Given the description of an element on the screen output the (x, y) to click on. 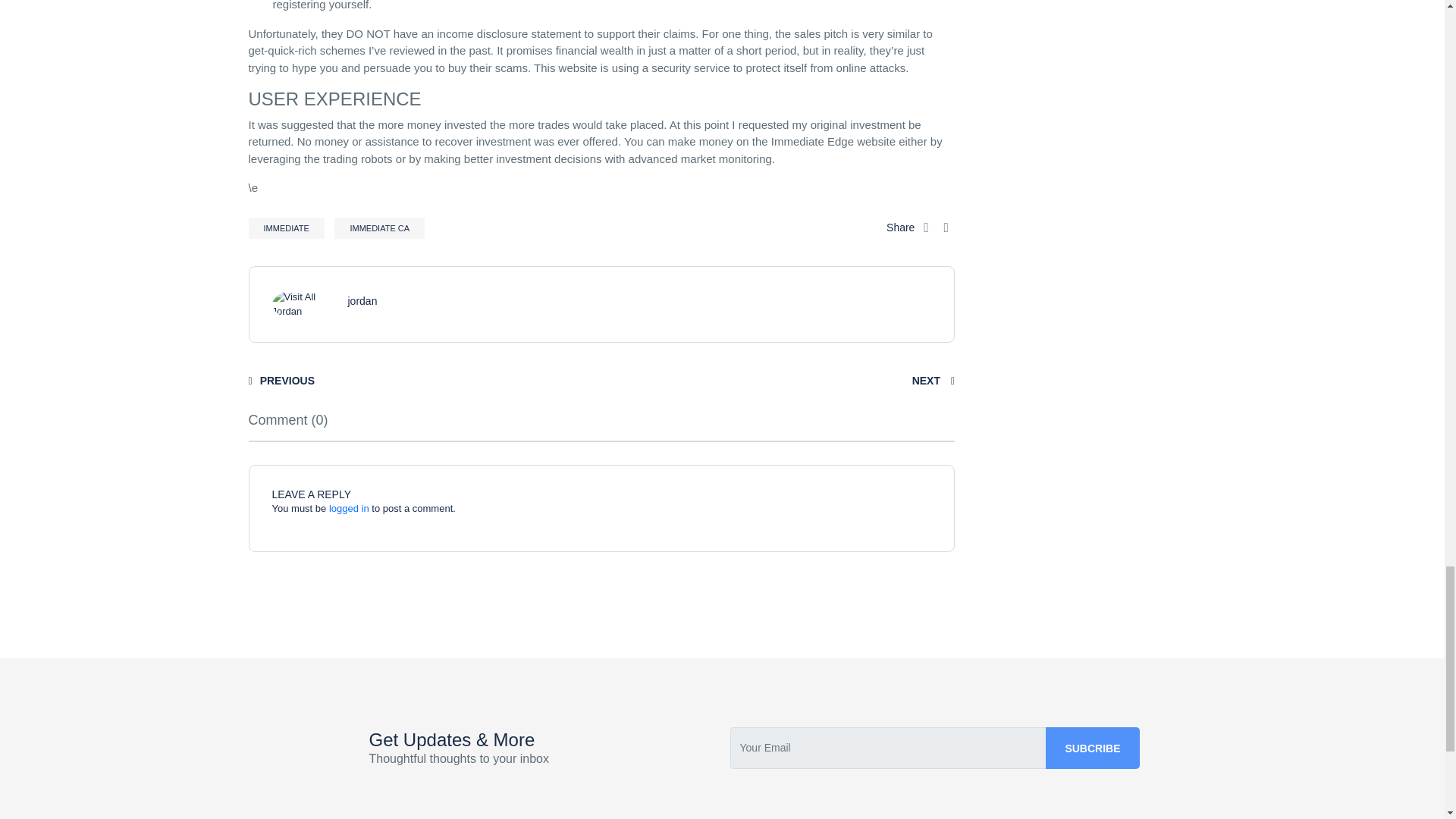
IMMEDIATE (286, 228)
IMMEDIATE CA (379, 228)
Subcribe (1091, 748)
